Given the description of an element on the screen output the (x, y) to click on. 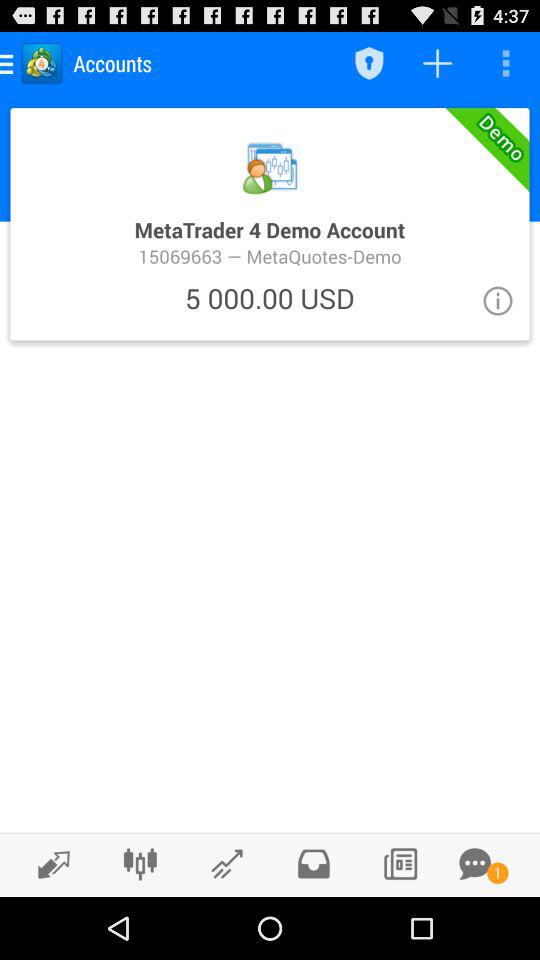
click on the demo (269, 223)
